Given the description of an element on the screen output the (x, y) to click on. 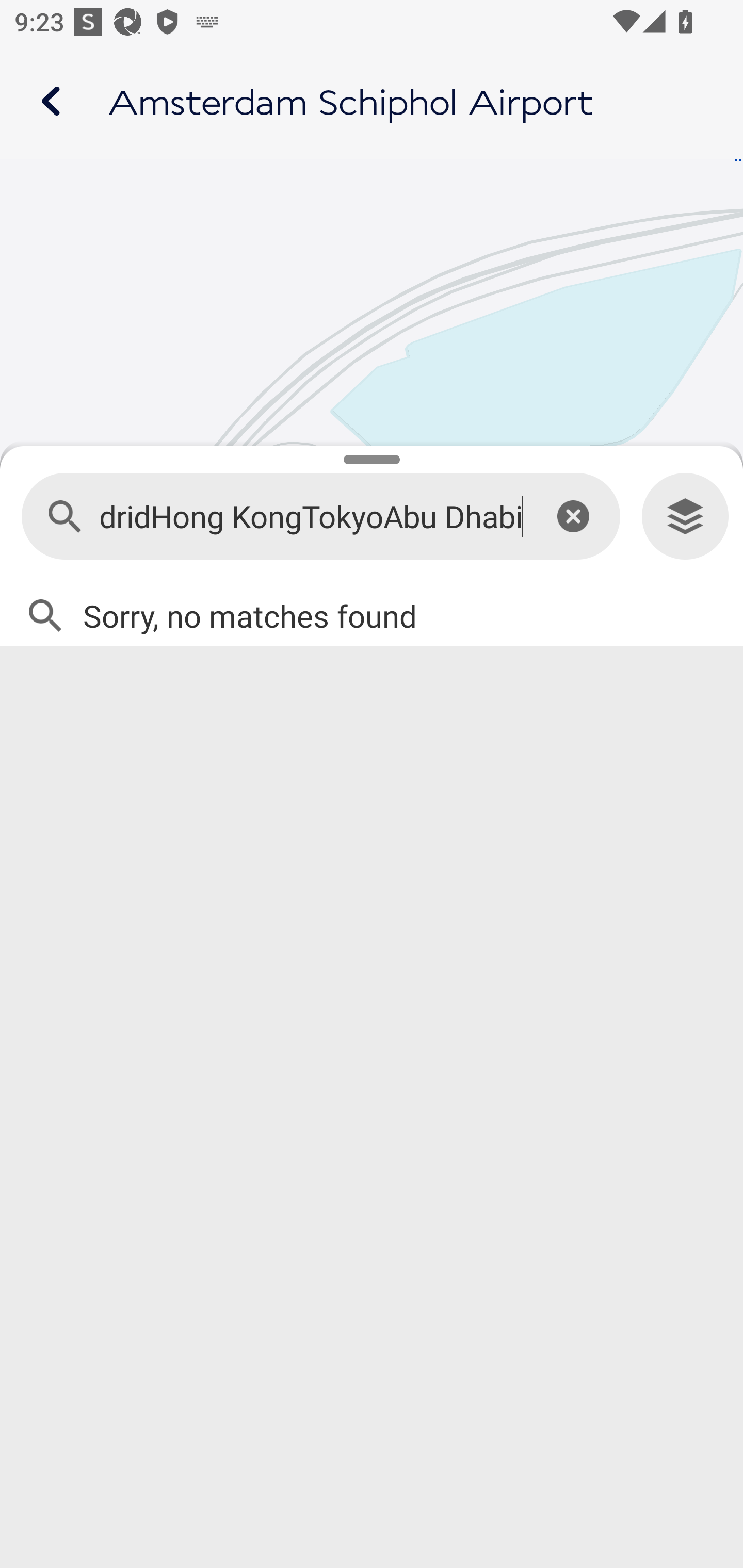
Airport map (371, 100)
MadridHong KongTokyoAbu Dhabi (311, 516)
Levels (684, 516)
This is an icon for clearing the text field. (573, 515)
